Given the description of an element on the screen output the (x, y) to click on. 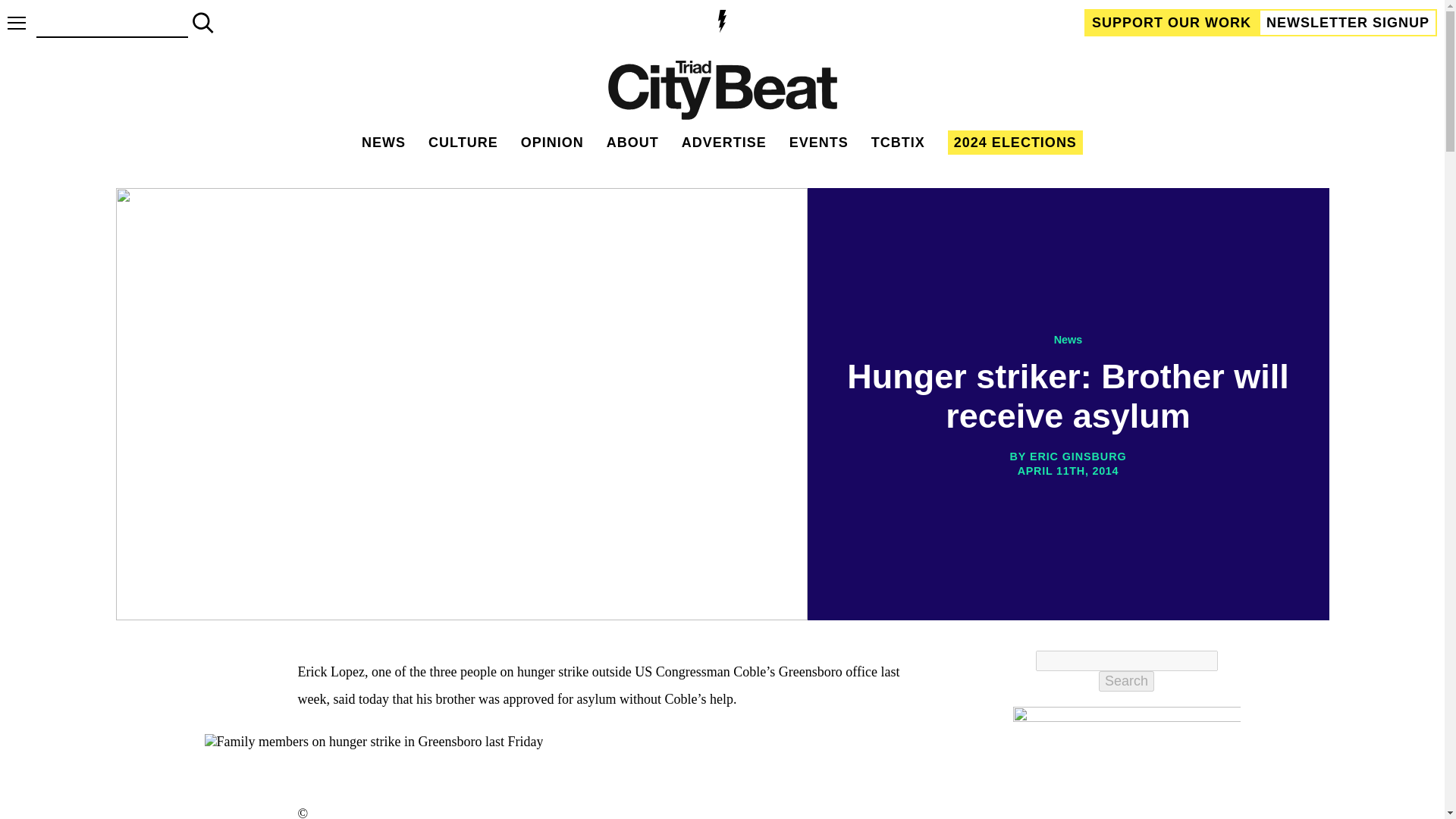
EVENTS (818, 142)
OPINION (552, 142)
2024 ELECTIONS (1015, 142)
TCBTIX (897, 142)
ADVERTISE (724, 142)
SUPPORT OUR WORK (1171, 22)
Search (1126, 680)
April 11th, 2014 (1067, 471)
NEWSLETTER SIGNUP (1348, 22)
Search (1126, 680)
